Given the description of an element on the screen output the (x, y) to click on. 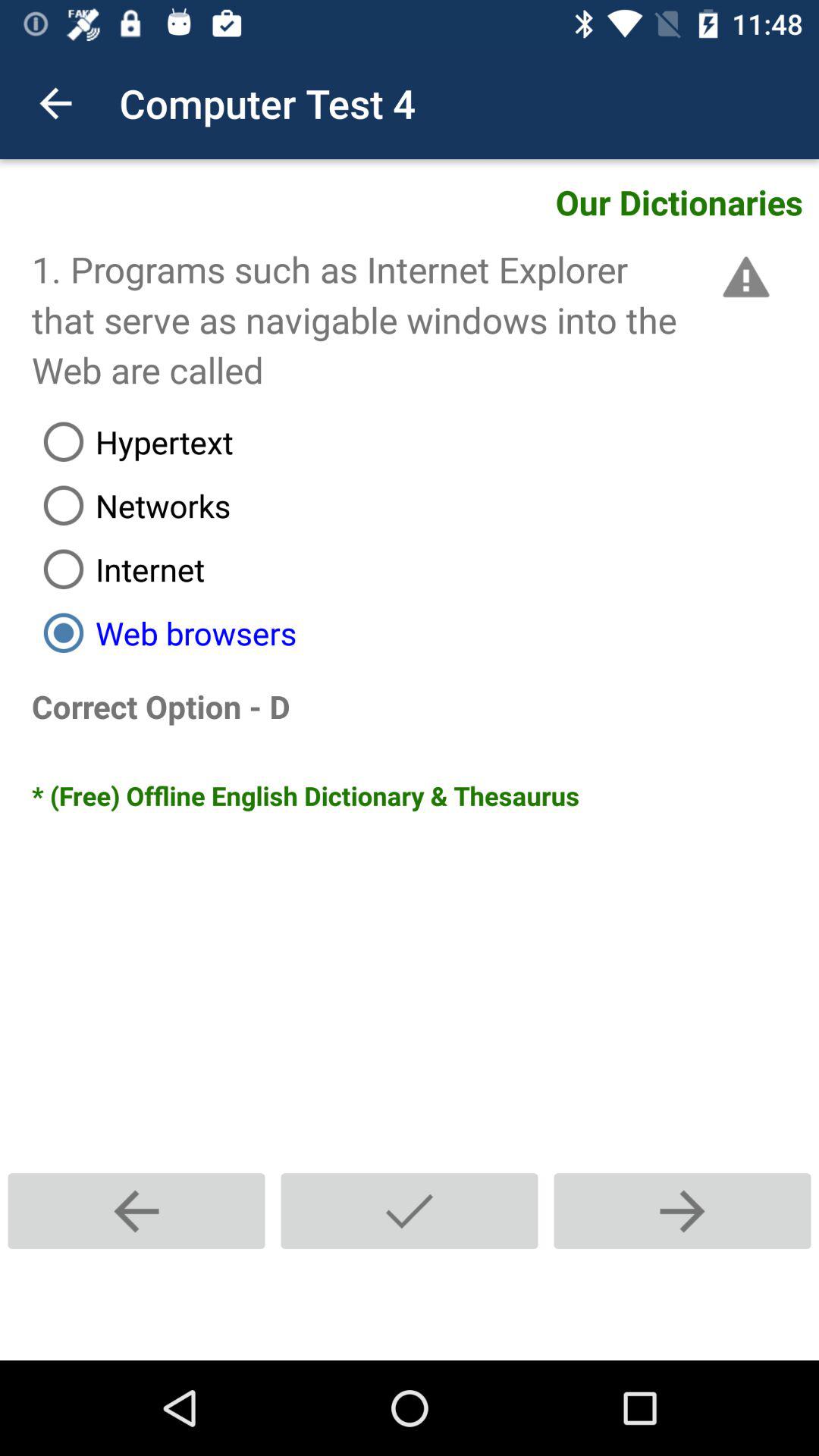
okay (409, 1210)
